Given the description of an element on the screen output the (x, y) to click on. 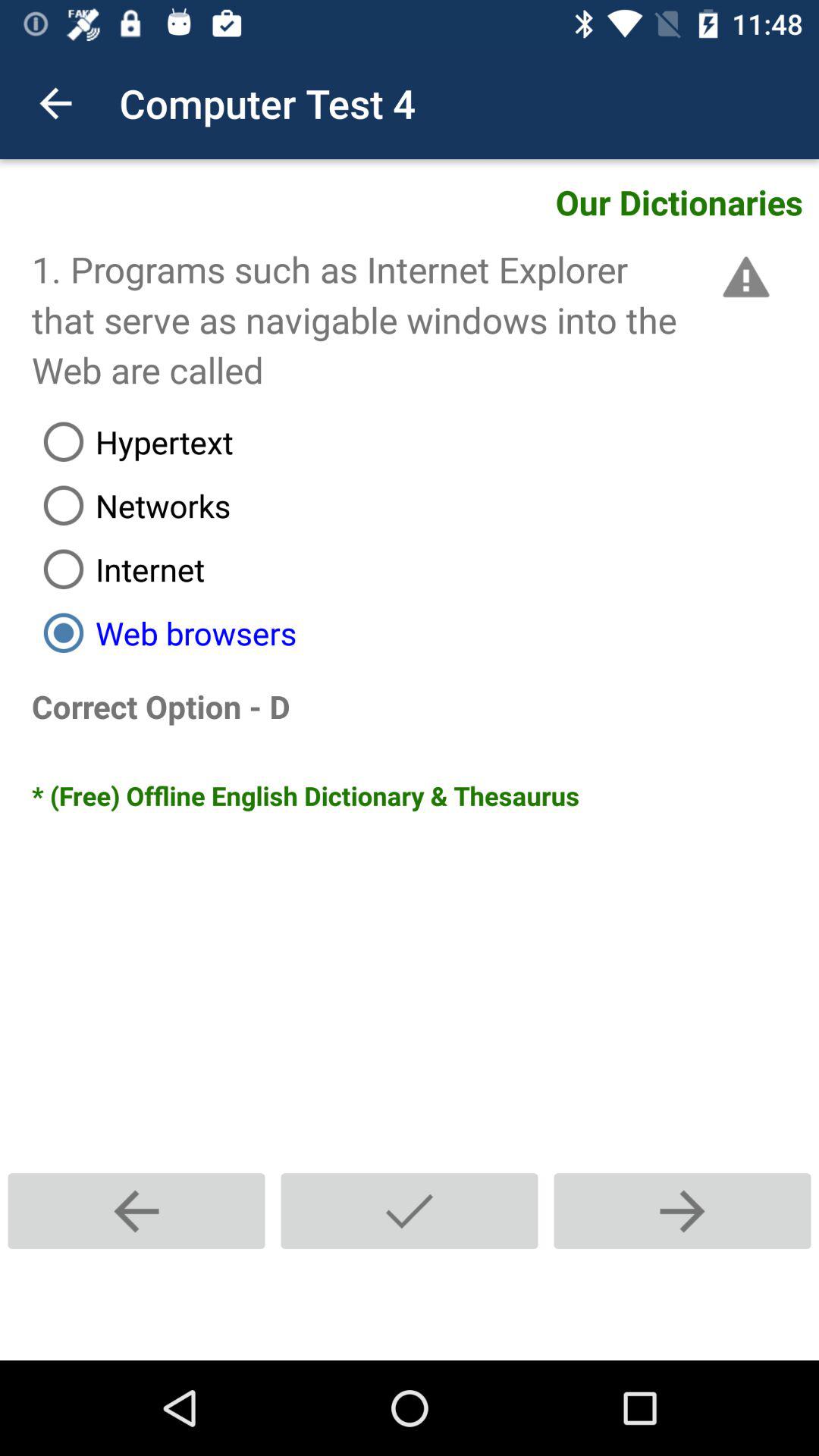
okay (409, 1210)
